Given the description of an element on the screen output the (x, y) to click on. 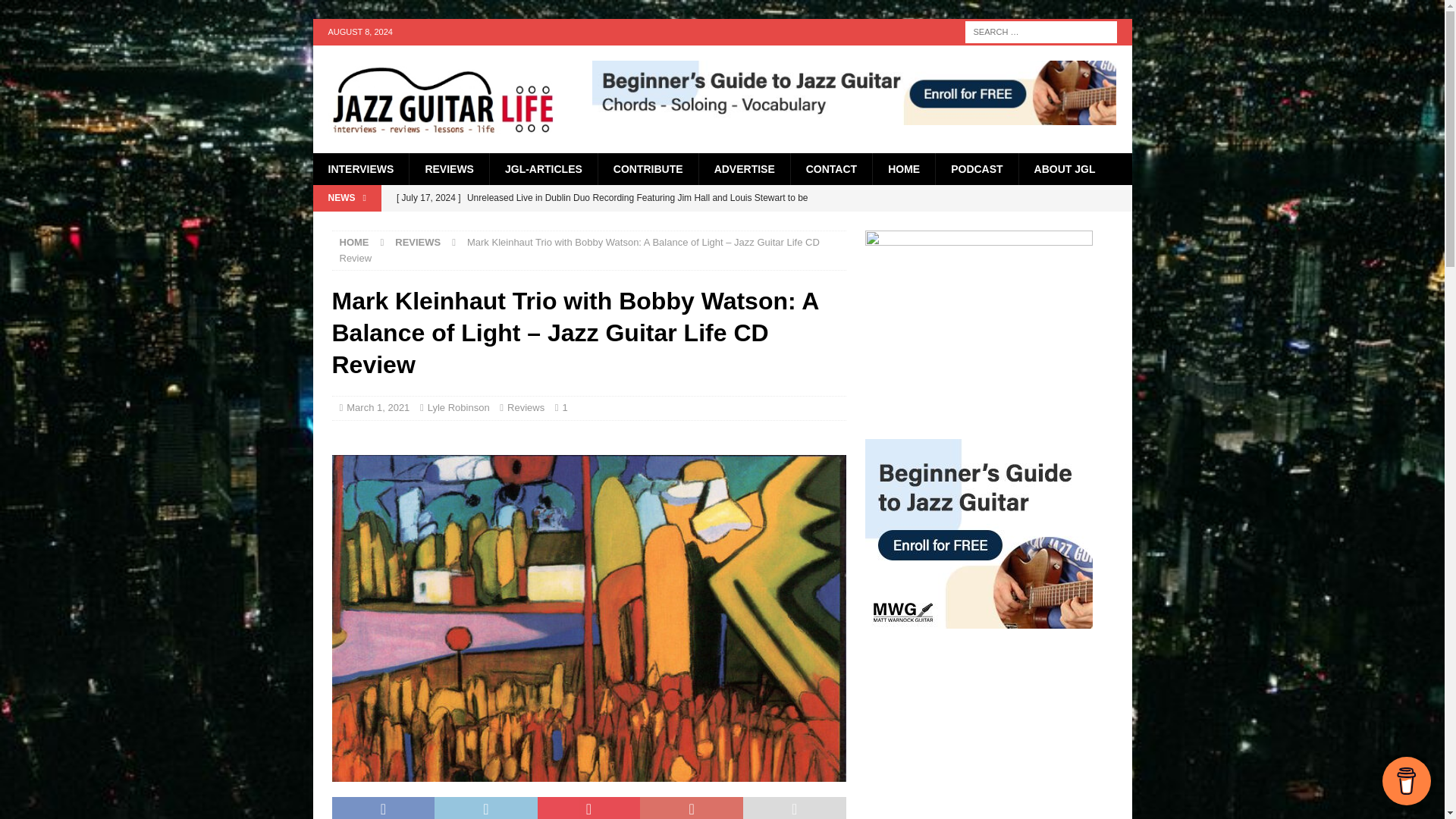
CONTRIBUTE (647, 169)
INTERVIEWS (361, 169)
ABOUT JGL (1063, 169)
REVIEWS (449, 169)
Reviews (525, 407)
HOME (354, 242)
Lyle Robinson (458, 407)
REVIEWS (417, 242)
March 1, 2021 (377, 407)
